Given the description of an element on the screen output the (x, y) to click on. 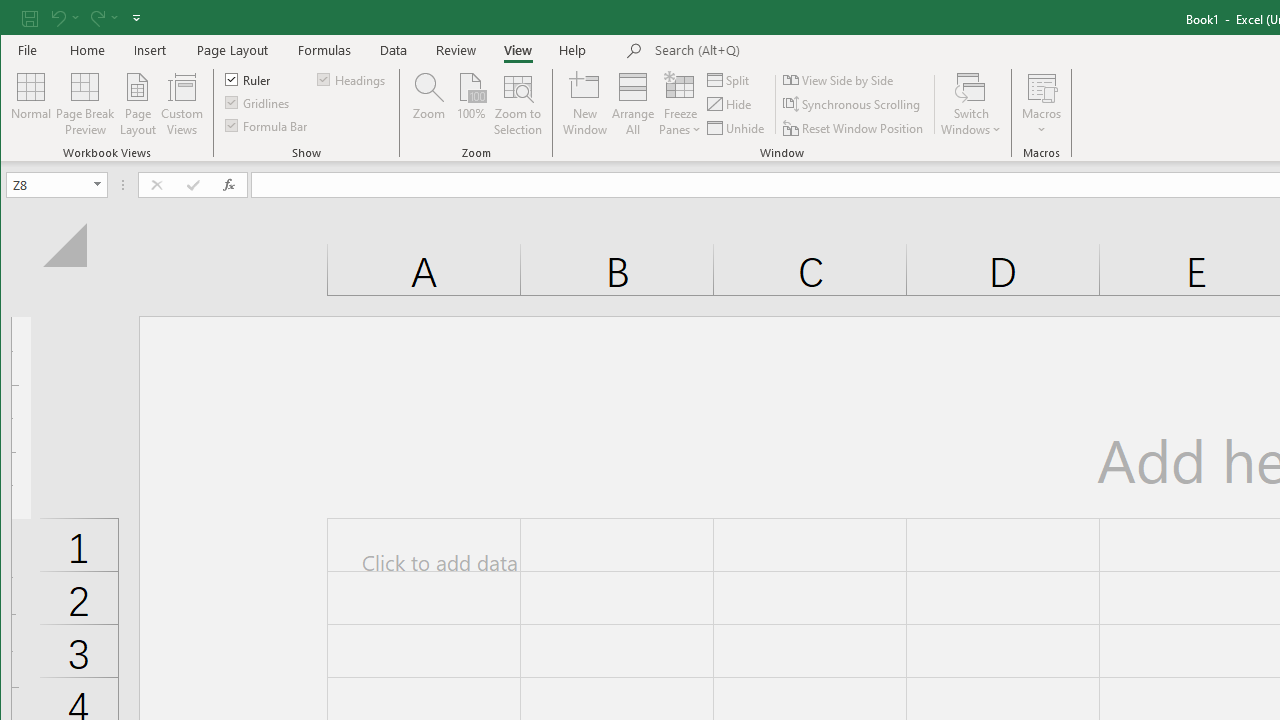
Custom Views... (182, 104)
